Given the description of an element on the screen output the (x, y) to click on. 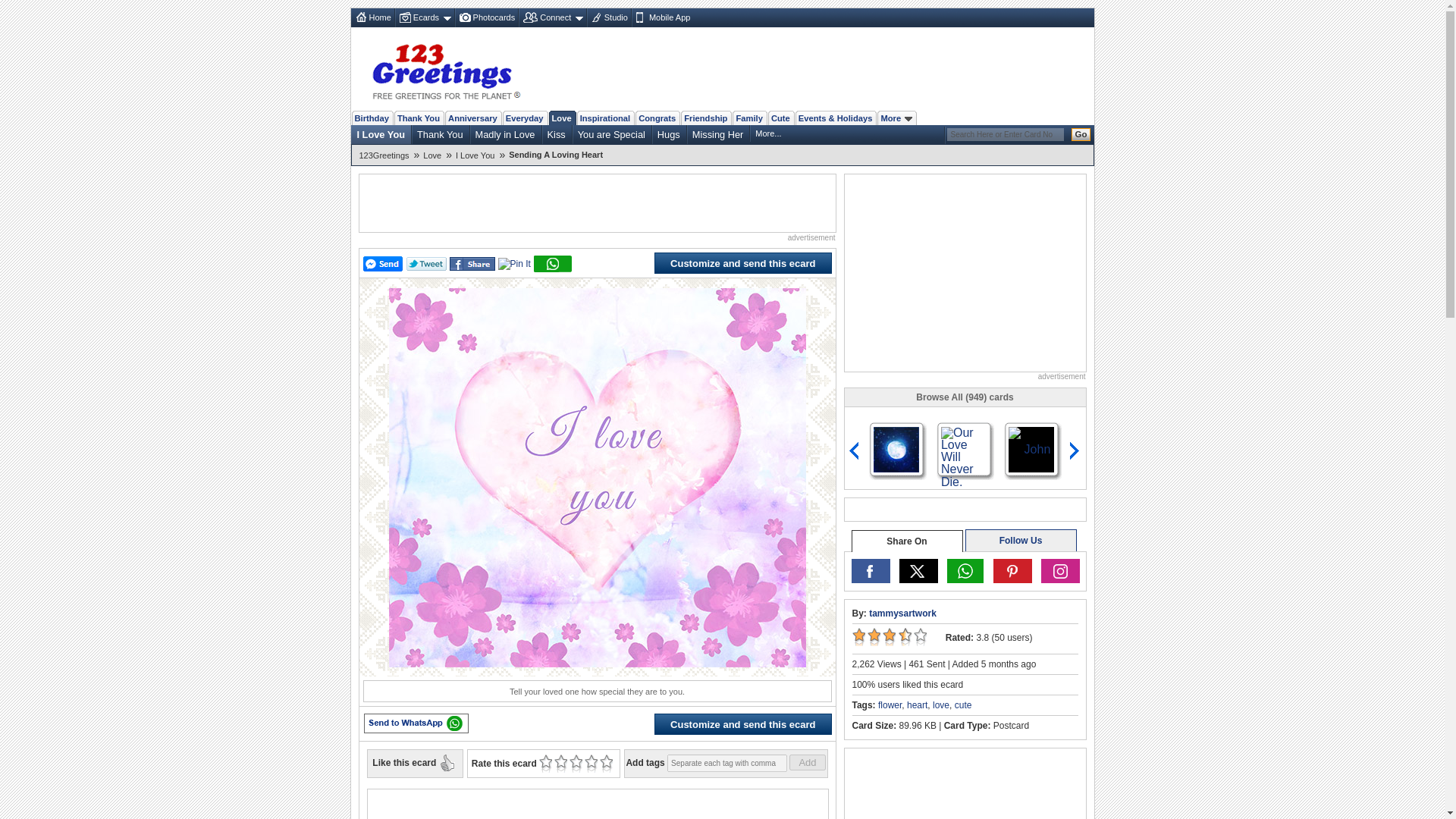
Home (371, 17)
Love (561, 117)
Madly in Love (505, 134)
Ecards (424, 17)
Download 123Greetings Mobile App (661, 17)
Friendship (705, 117)
Cute Cards (780, 117)
Birthday (371, 117)
Congrats (656, 117)
Everyday Cards (524, 117)
Everyday (524, 117)
Home (371, 17)
More... (768, 133)
123Greetings.com, Free Greetings for the Planet (445, 69)
Import address book or check ecards received (551, 17)
